Given the description of an element on the screen output the (x, y) to click on. 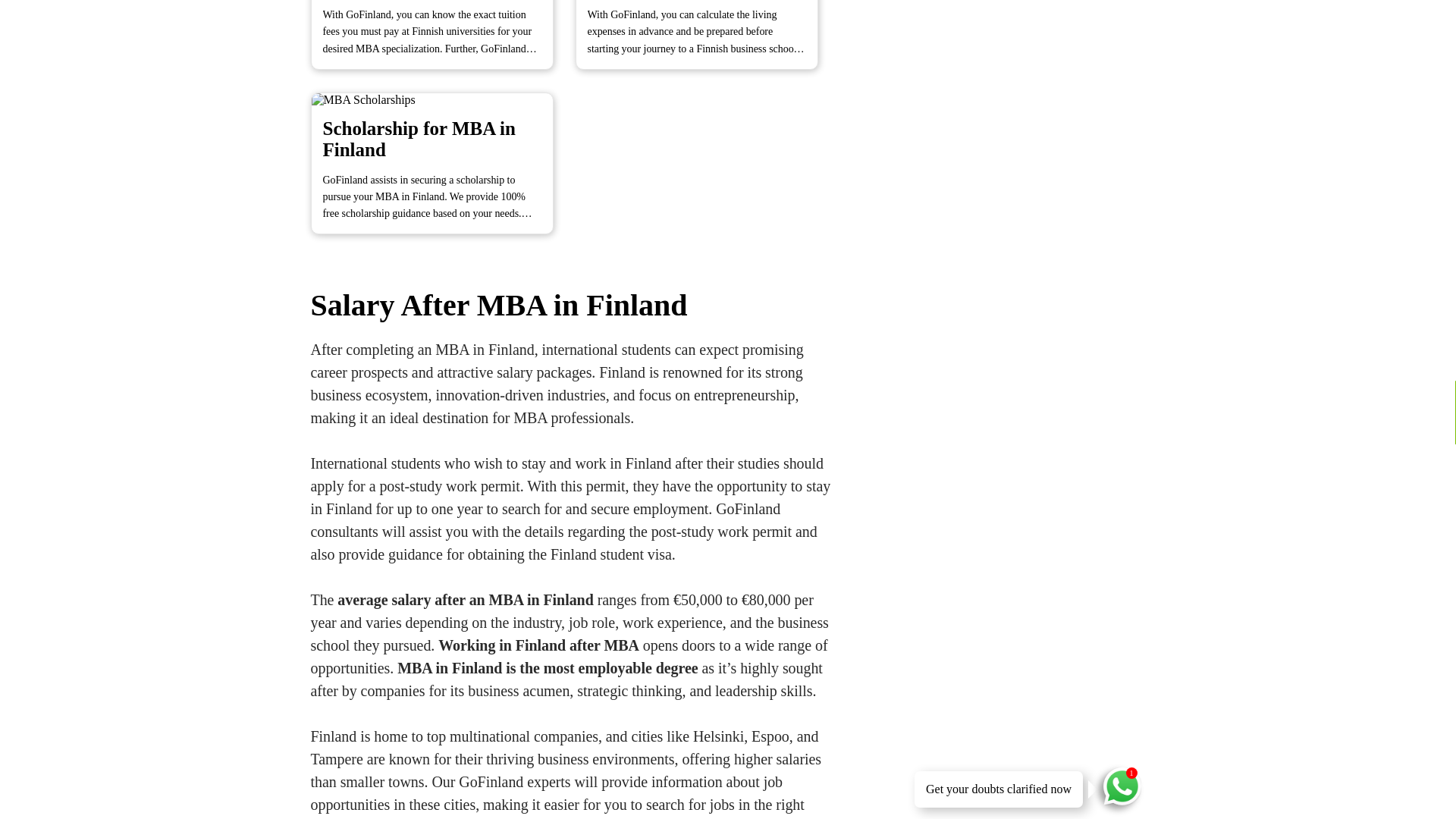
MBA Scholarships (441, 163)
MBA Tuition Fees (441, 45)
MBA Cost (705, 45)
